Given the description of an element on the screen output the (x, y) to click on. 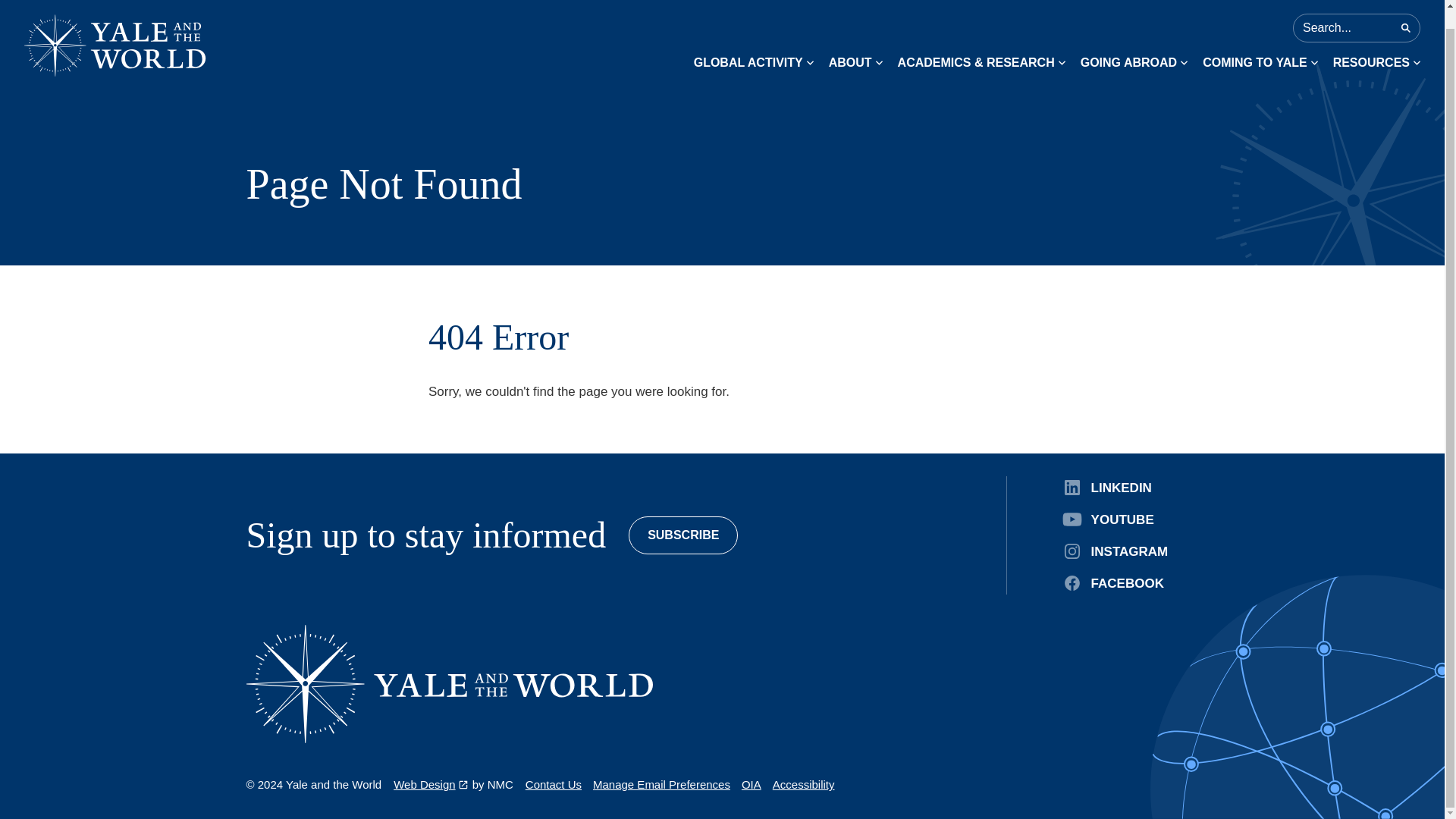
homepage (449, 683)
GOING ABROAD (1134, 44)
homepage (115, 29)
GLOBAL ACTIVITY (753, 44)
ABOUT (855, 44)
COMING TO YALE (1259, 44)
